Given the description of an element on the screen output the (x, y) to click on. 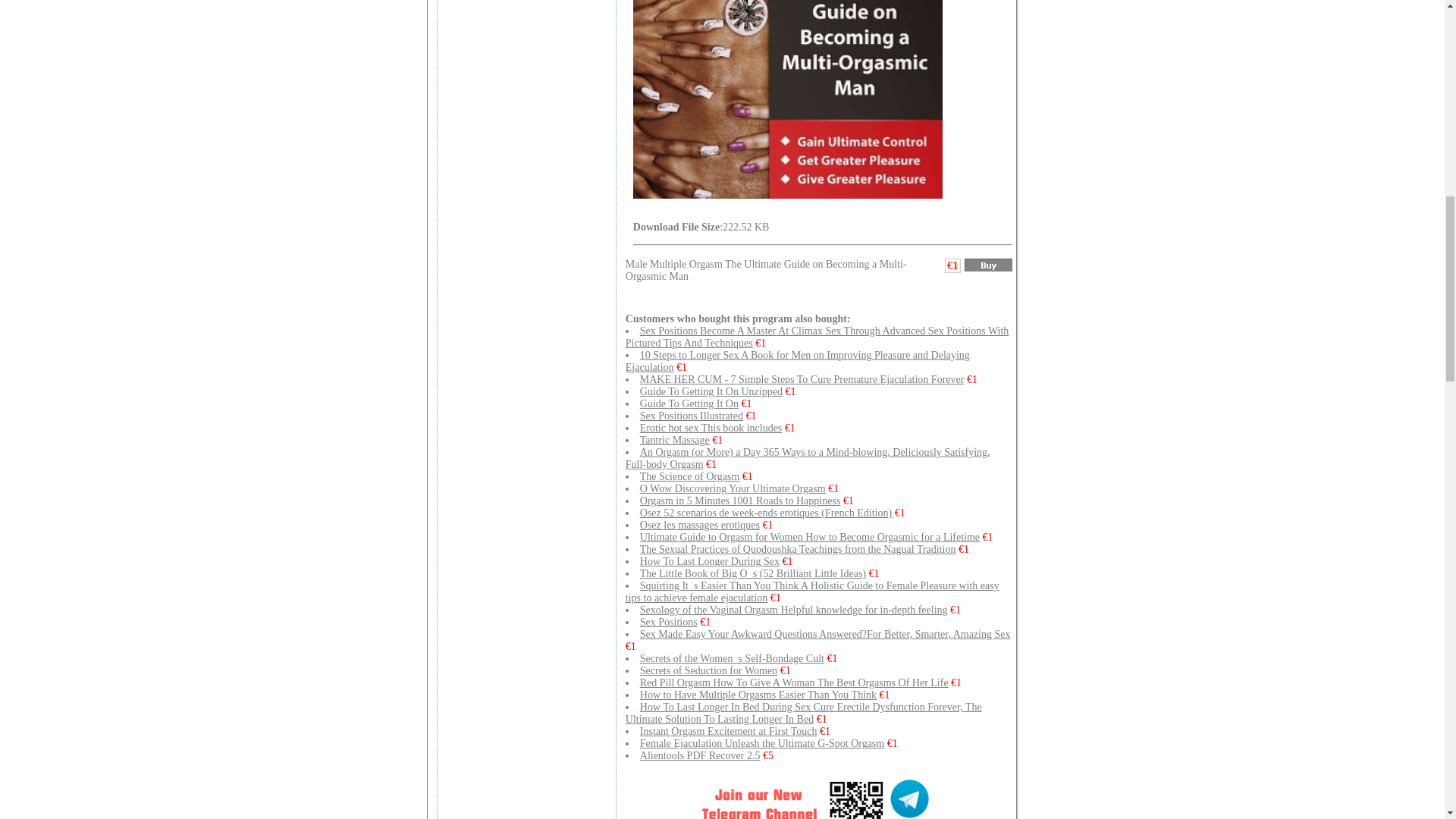
Orgasm in 5 Minutes 1001 Roads to Happiness (740, 500)
Osez les massages erotiques (700, 524)
Tantric Massage (675, 439)
Erotic hot sex This book includes (711, 428)
The Science of Orgasm (689, 476)
Guide To Getting It On (689, 403)
O Wow Discovering Your Ultimate Orgasm (732, 488)
Guide To Getting It On Unzipped (711, 391)
Sex Positions Illustrated (691, 415)
